Given the description of an element on the screen output the (x, y) to click on. 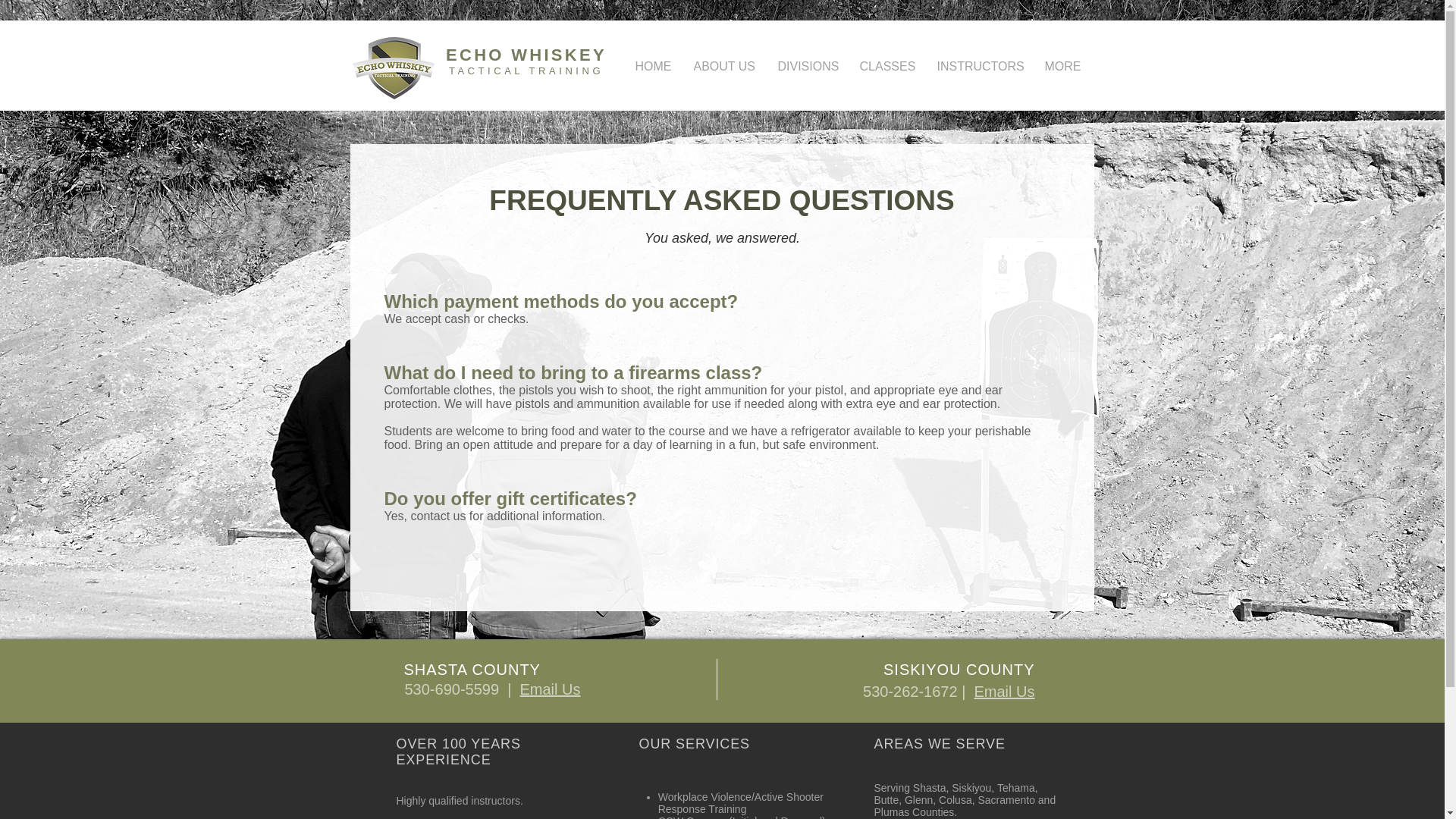
ABOUT US (724, 65)
ECHO WHISKEY (526, 54)
CLASSES (885, 65)
INSTRUCTORS (978, 65)
HOME (652, 65)
Email Us (549, 688)
Email Us (1003, 691)
DIVISIONS (806, 65)
